Given the description of an element on the screen output the (x, y) to click on. 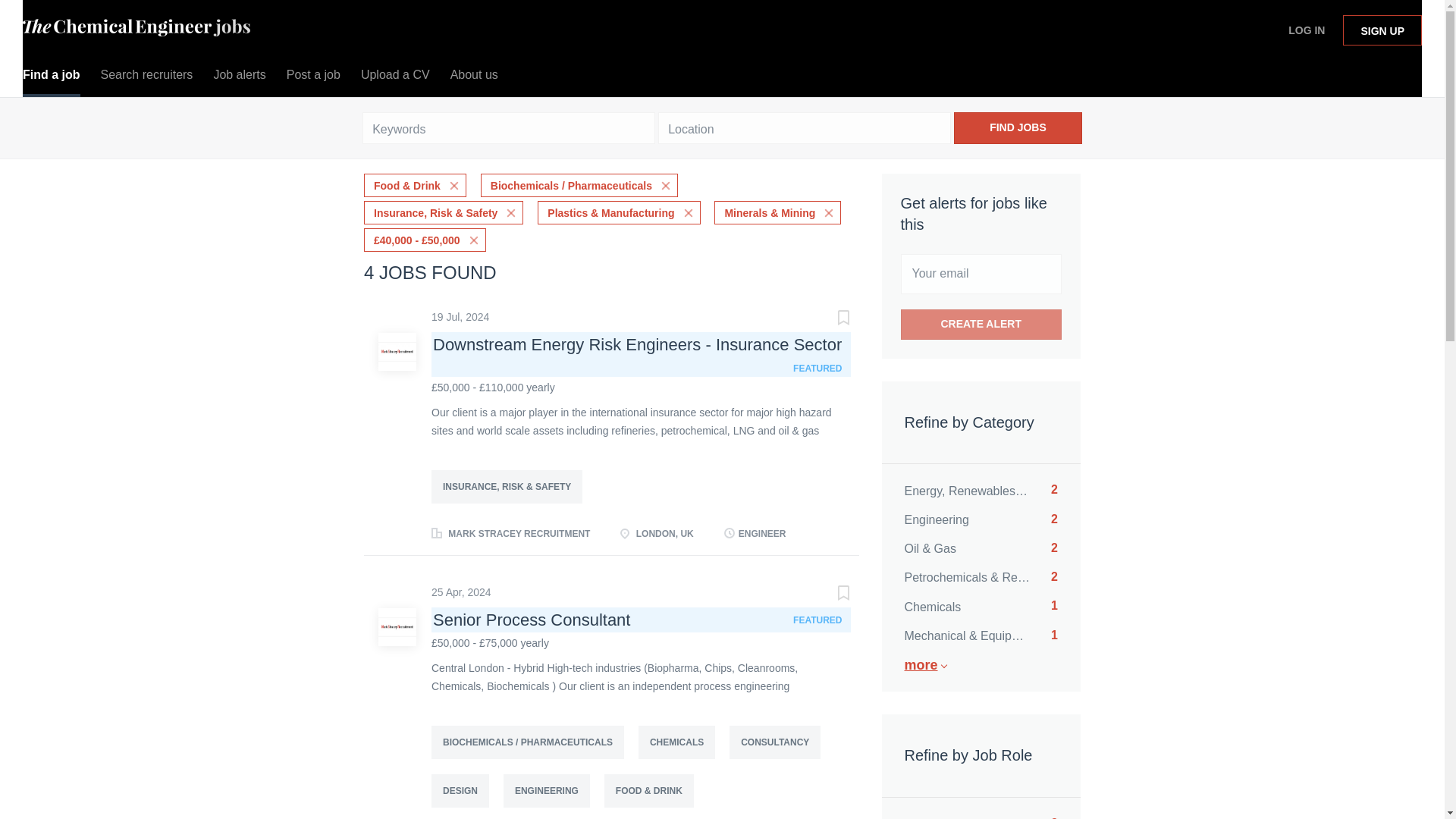
LOG IN (1306, 30)
SIGN UP (1382, 30)
Post a job (313, 78)
more (980, 814)
Create Alert (980, 519)
Upload a CV (992, 665)
FIND JOBS (980, 605)
About us (981, 324)
Search recruiters (395, 78)
Create Alert (1017, 128)
Job alerts (473, 78)
Save (146, 78)
